Given the description of an element on the screen output the (x, y) to click on. 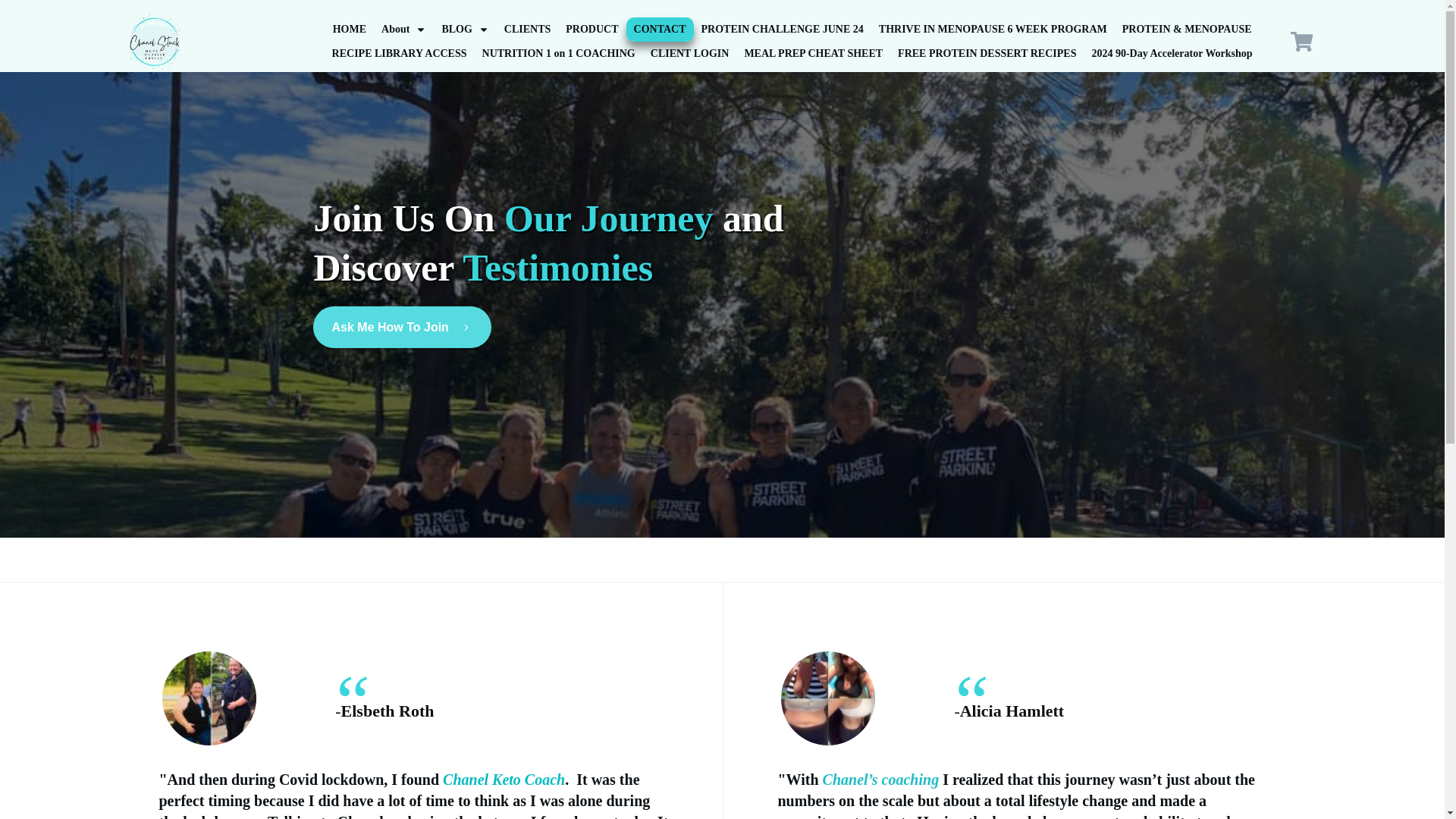
Alicia (827, 698)
HOME (349, 29)
CLIENTS (526, 29)
PRODUCT (591, 29)
THRIVE IN MENOPAUSE 6 WEEK PROGRAM (992, 29)
Ask Me How To Join (401, 327)
About (403, 29)
CLIENT LOGIN (689, 53)
CONTACT (659, 29)
2024 90-Day Accelerator Workshop (1171, 53)
